Given the description of an element on the screen output the (x, y) to click on. 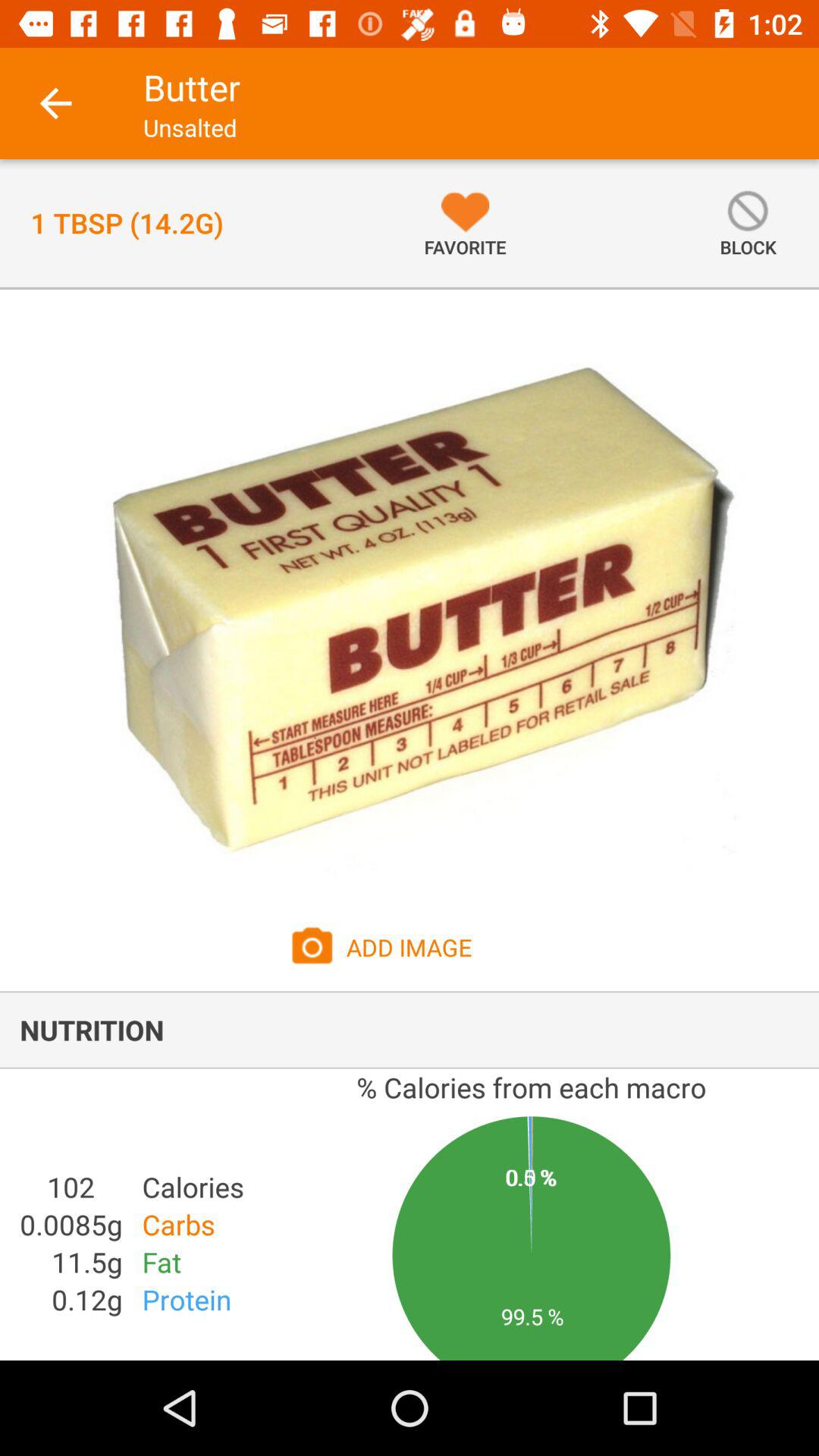
click the icon above the unsalted icon (191, 87)
